Given the description of an element on the screen output the (x, y) to click on. 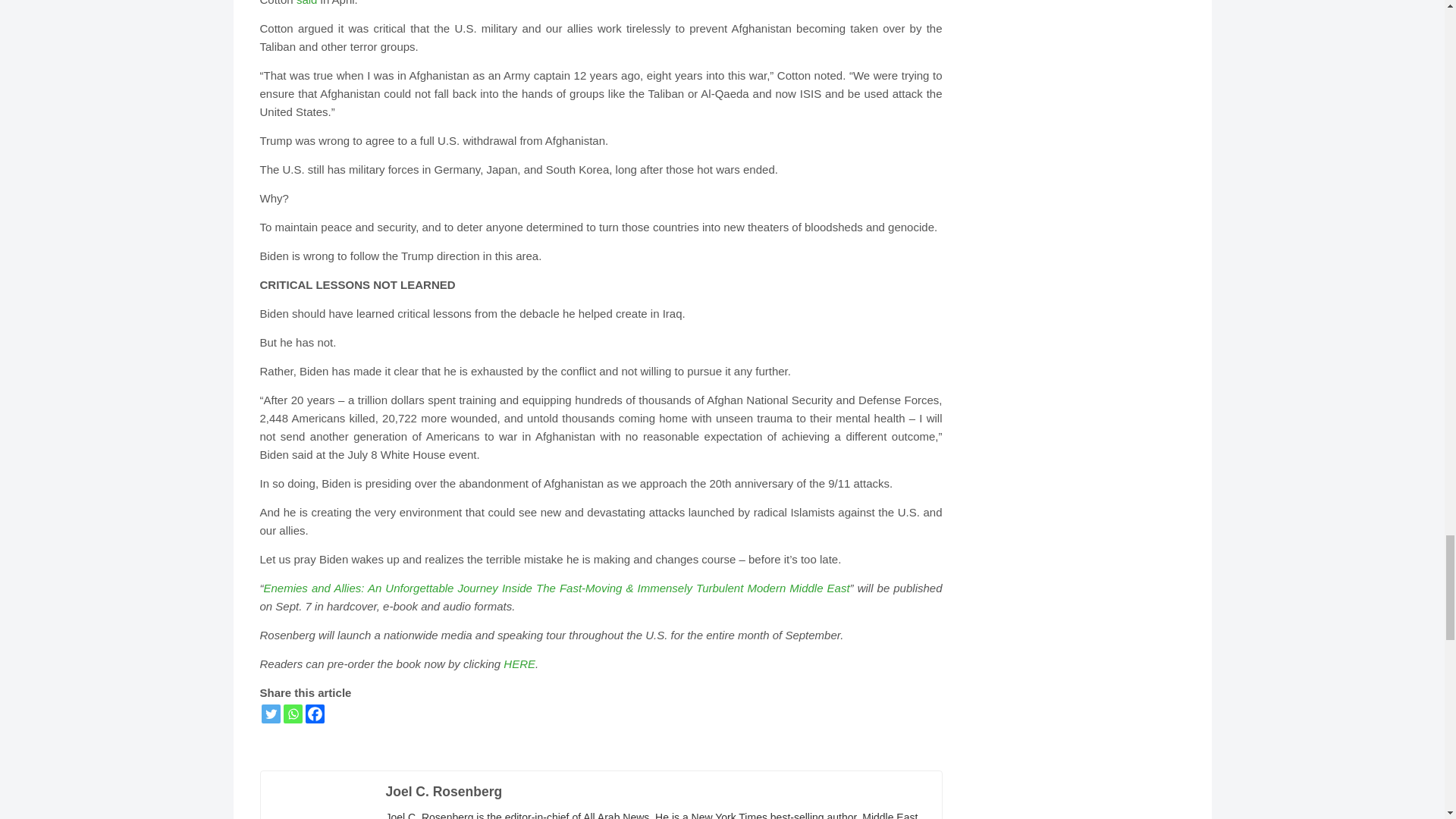
Facebook (313, 713)
HERE (519, 663)
Twitter (269, 713)
Whatsapp (292, 713)
said (307, 2)
